Given the description of an element on the screen output the (x, y) to click on. 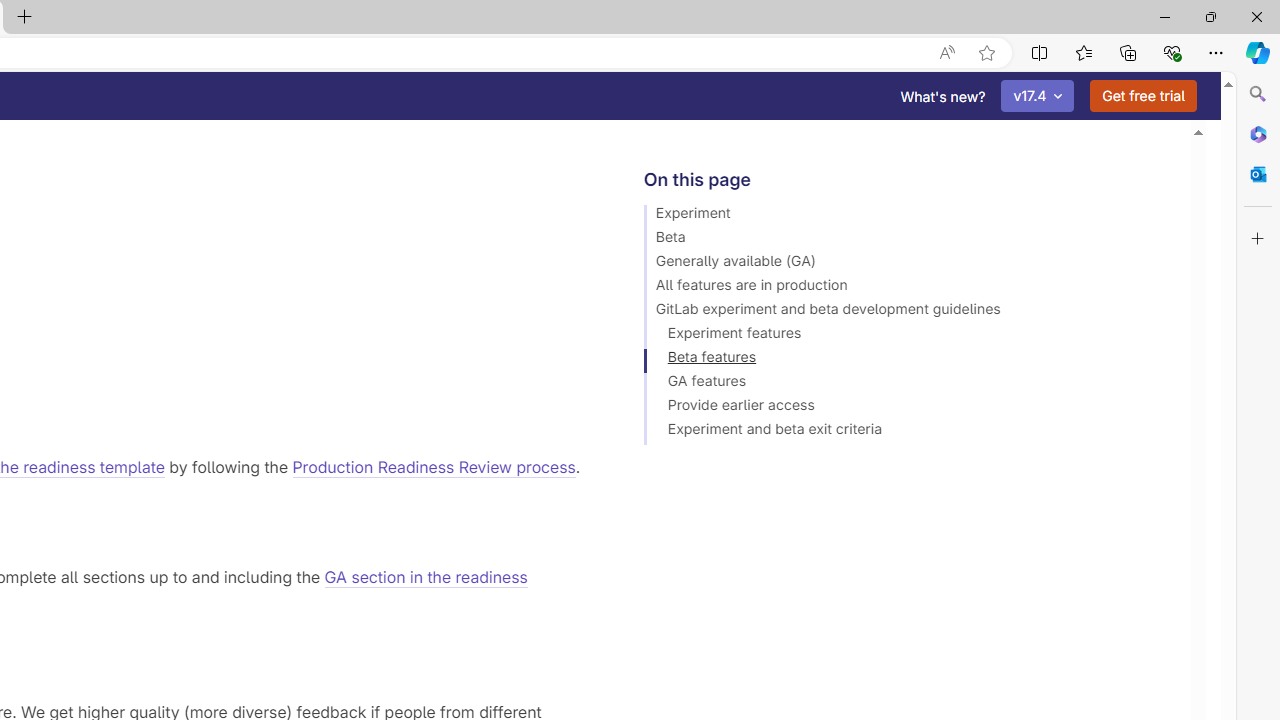
GitLab experiment and beta development guidelines (908, 312)
All features are in production (908, 287)
Experiment (908, 215)
Experiment features (908, 336)
v17.4 (1037, 95)
Experiment features (908, 336)
Beta (908, 240)
Experiment and beta exit criteria (908, 431)
Beta (908, 240)
